Given the description of an element on the screen output the (x, y) to click on. 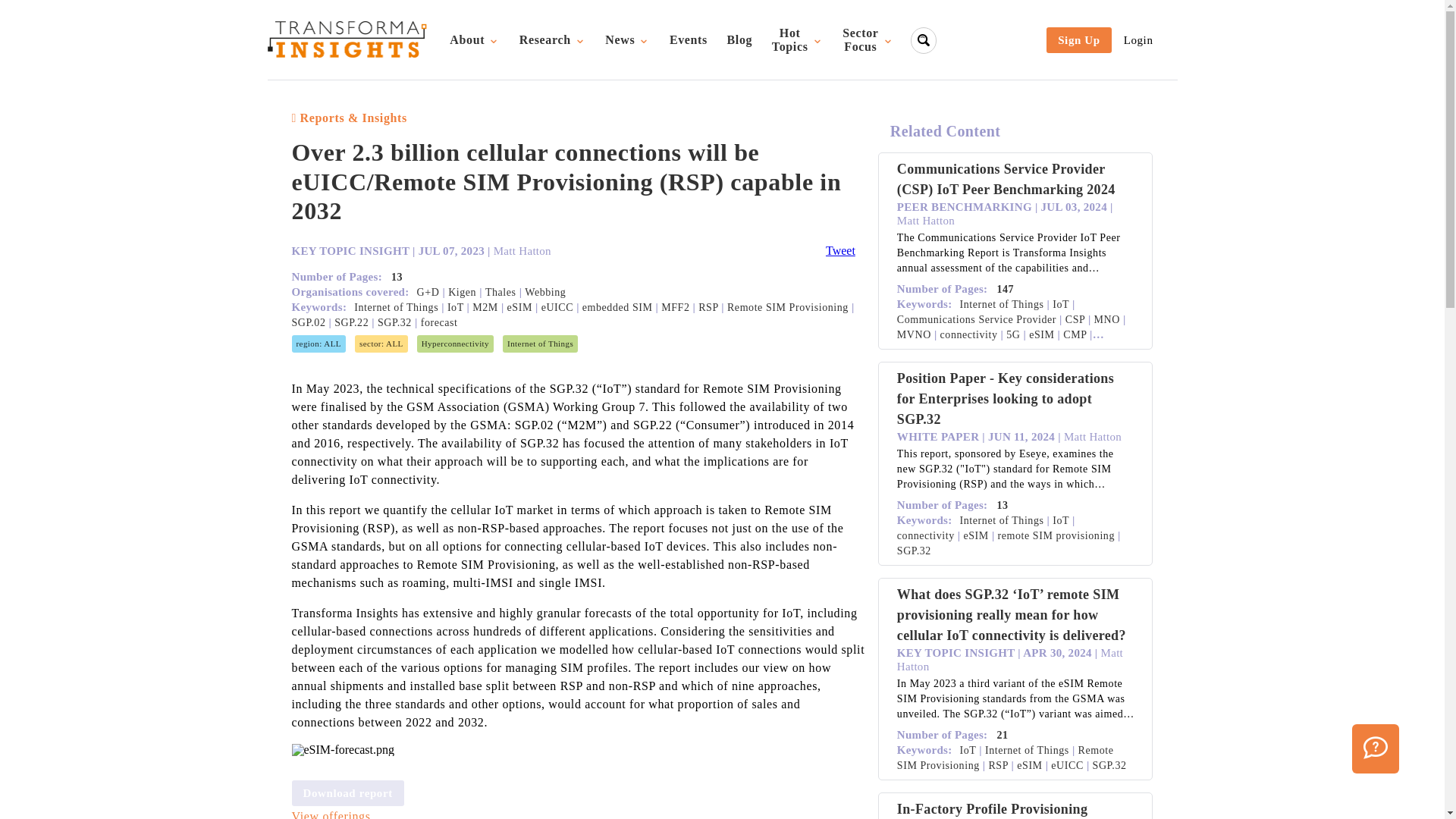
eSIM-forecast.png (796, 40)
Research (342, 749)
Events (552, 40)
technology (688, 40)
About (540, 343)
technology (473, 40)
Blog (454, 343)
News (739, 40)
Download report (867, 40)
